Given the description of an element on the screen output the (x, y) to click on. 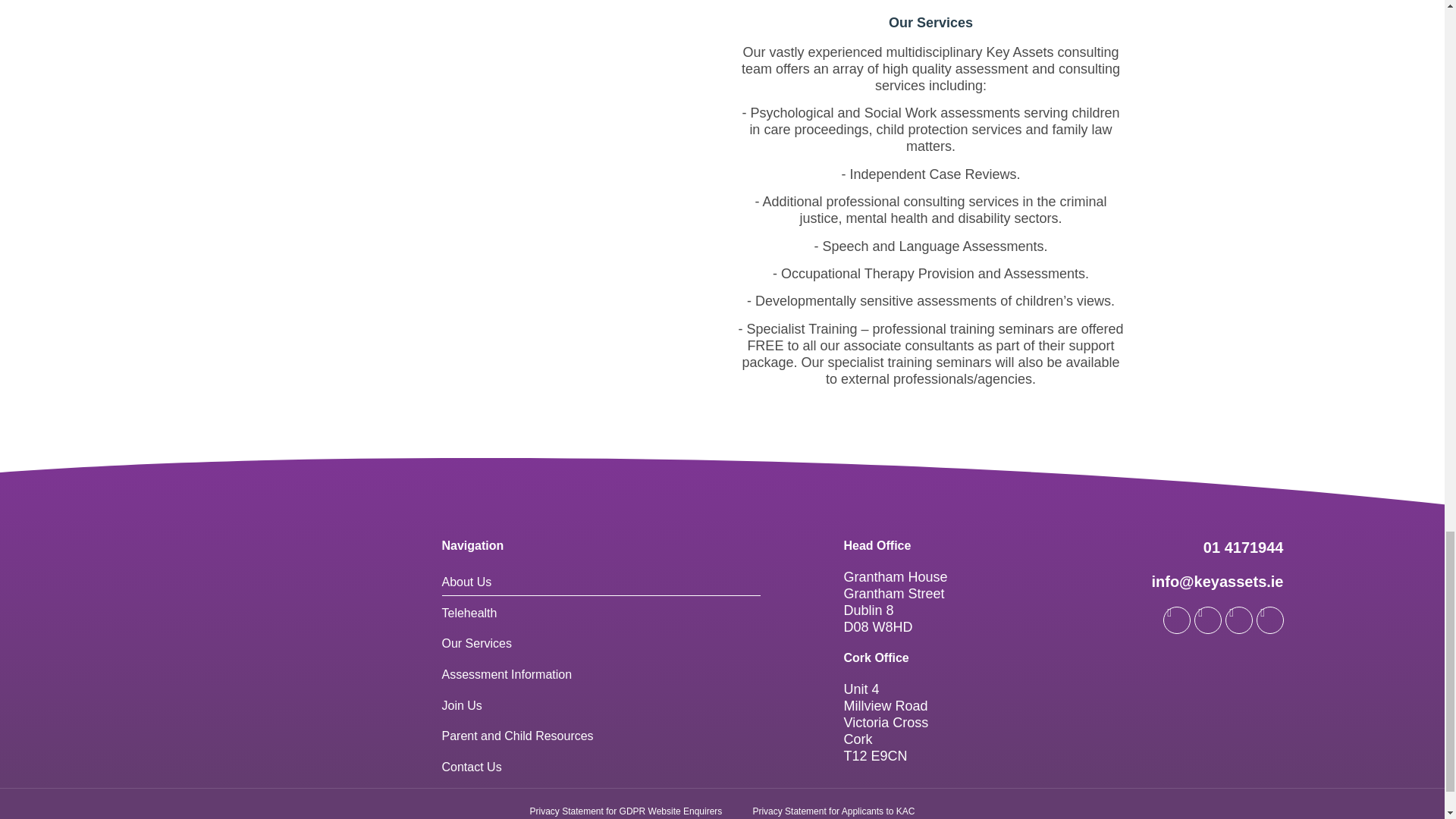
Our Services (513, 202)
